Given the description of an element on the screen output the (x, y) to click on. 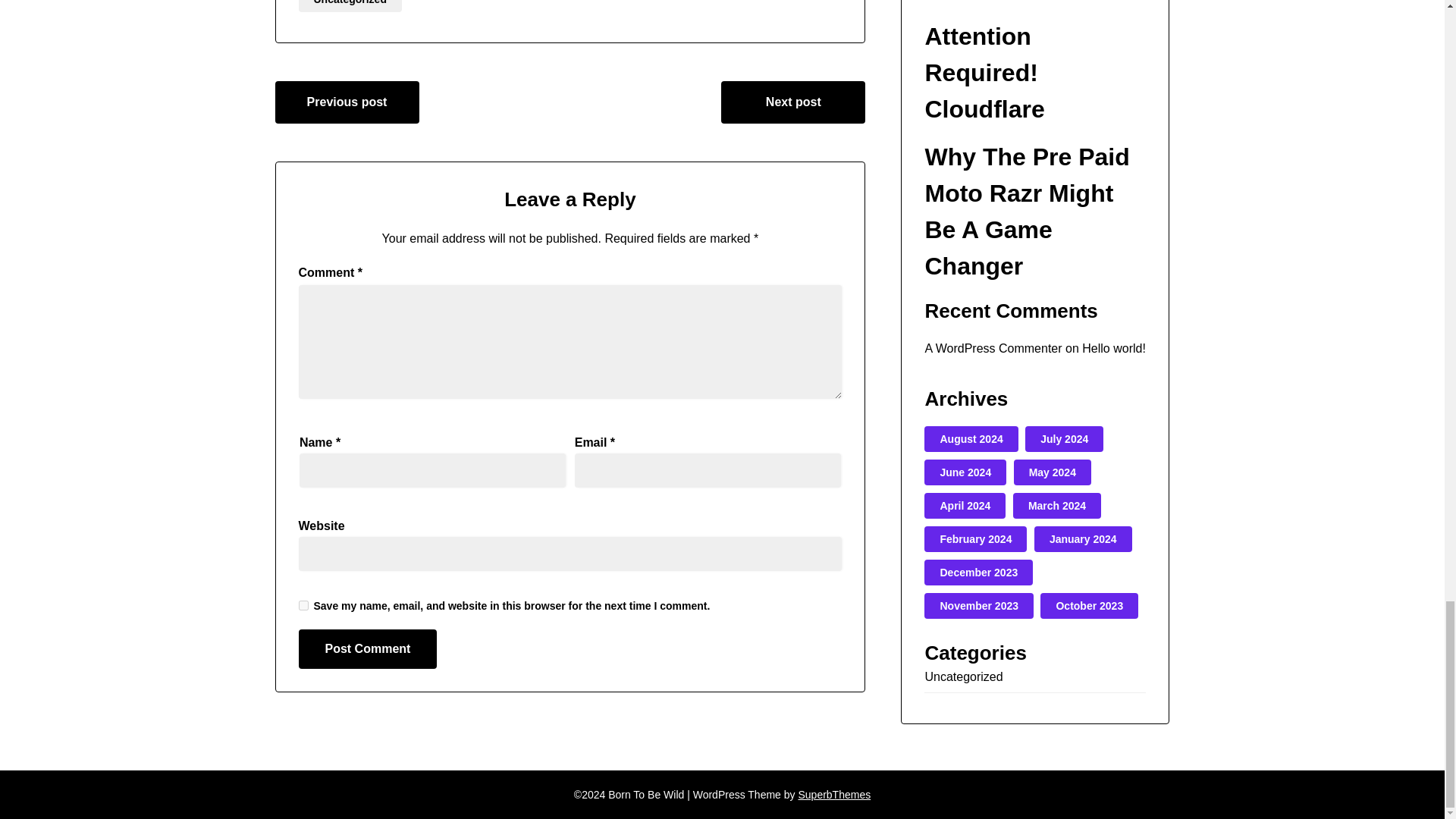
Post Comment (368, 649)
Next post (792, 102)
Post Comment (368, 649)
Uncategorized (349, 6)
Previous post (347, 102)
yes (303, 605)
